Given the description of an element on the screen output the (x, y) to click on. 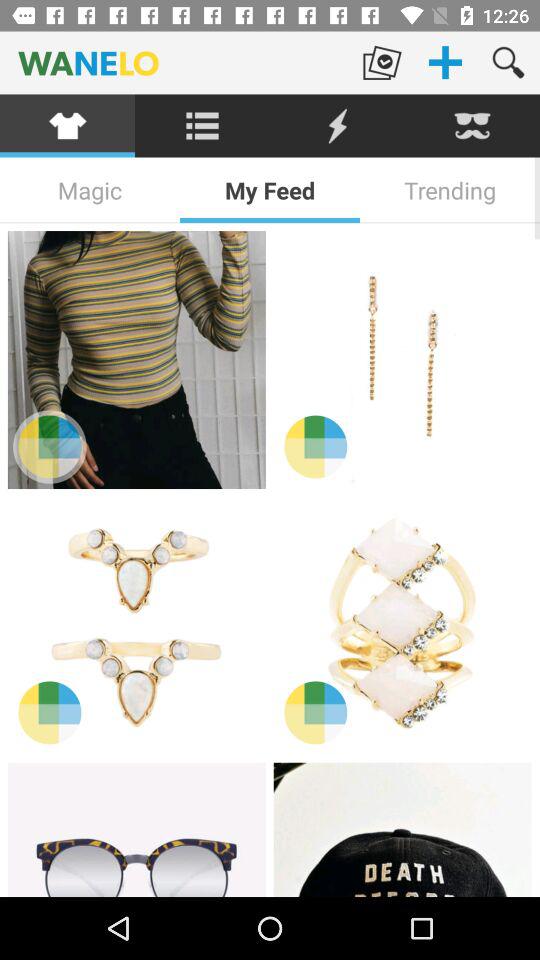
select the item above magic icon (202, 125)
